Given the description of an element on the screen output the (x, y) to click on. 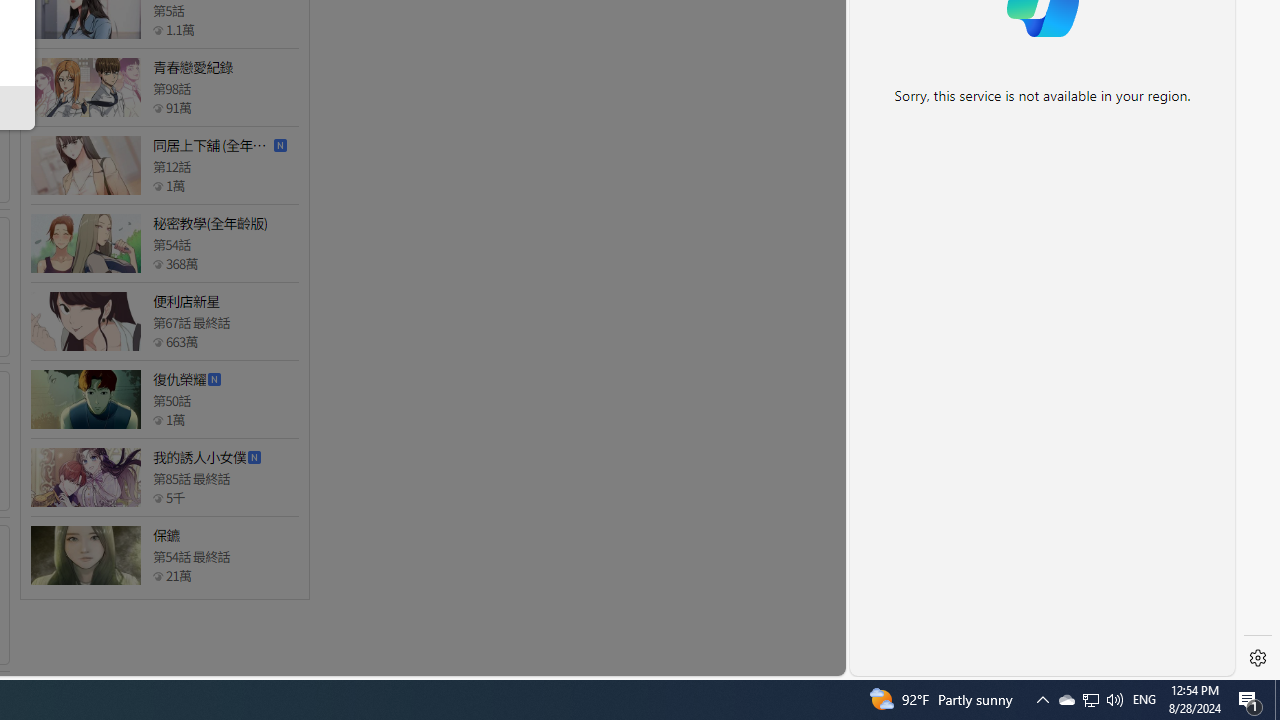
Settings (1258, 658)
